Given the description of an element on the screen output the (x, y) to click on. 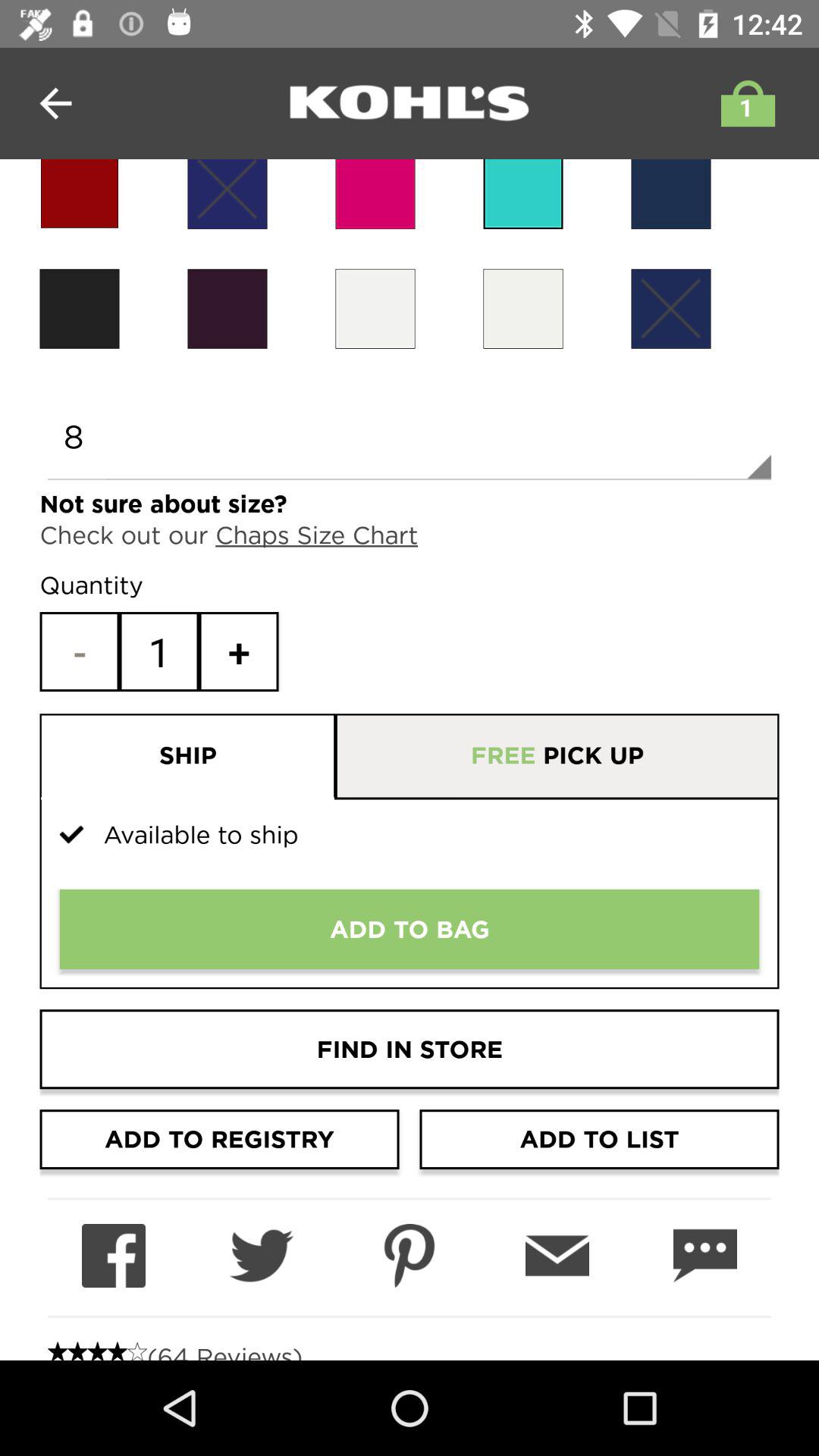
because back devicer (523, 308)
